Given the description of an element on the screen output the (x, y) to click on. 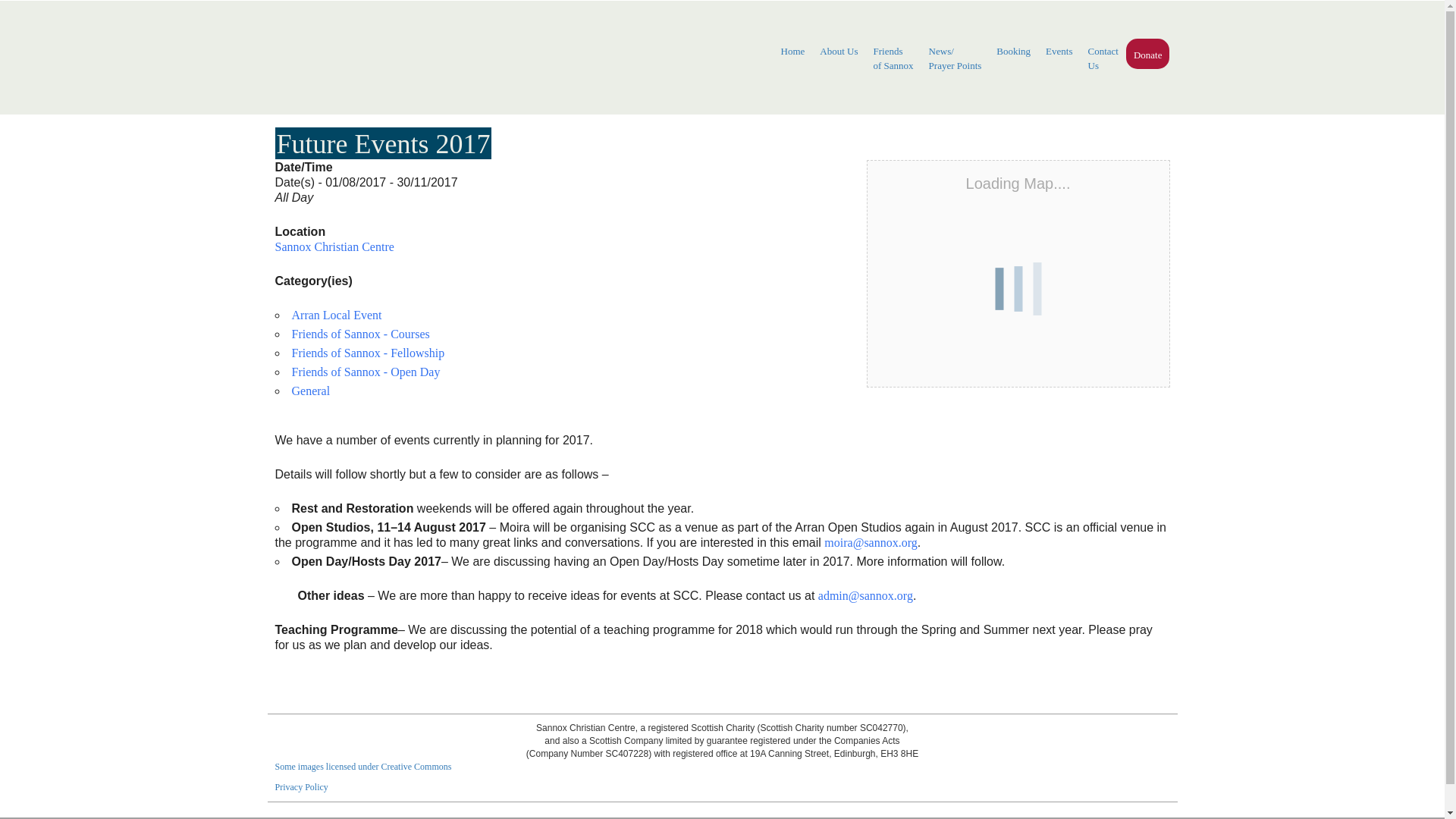
Donate (1147, 55)
Events (1059, 51)
About Us (893, 58)
Booking (838, 51)
Home (1013, 51)
